Given the description of an element on the screen output the (x, y) to click on. 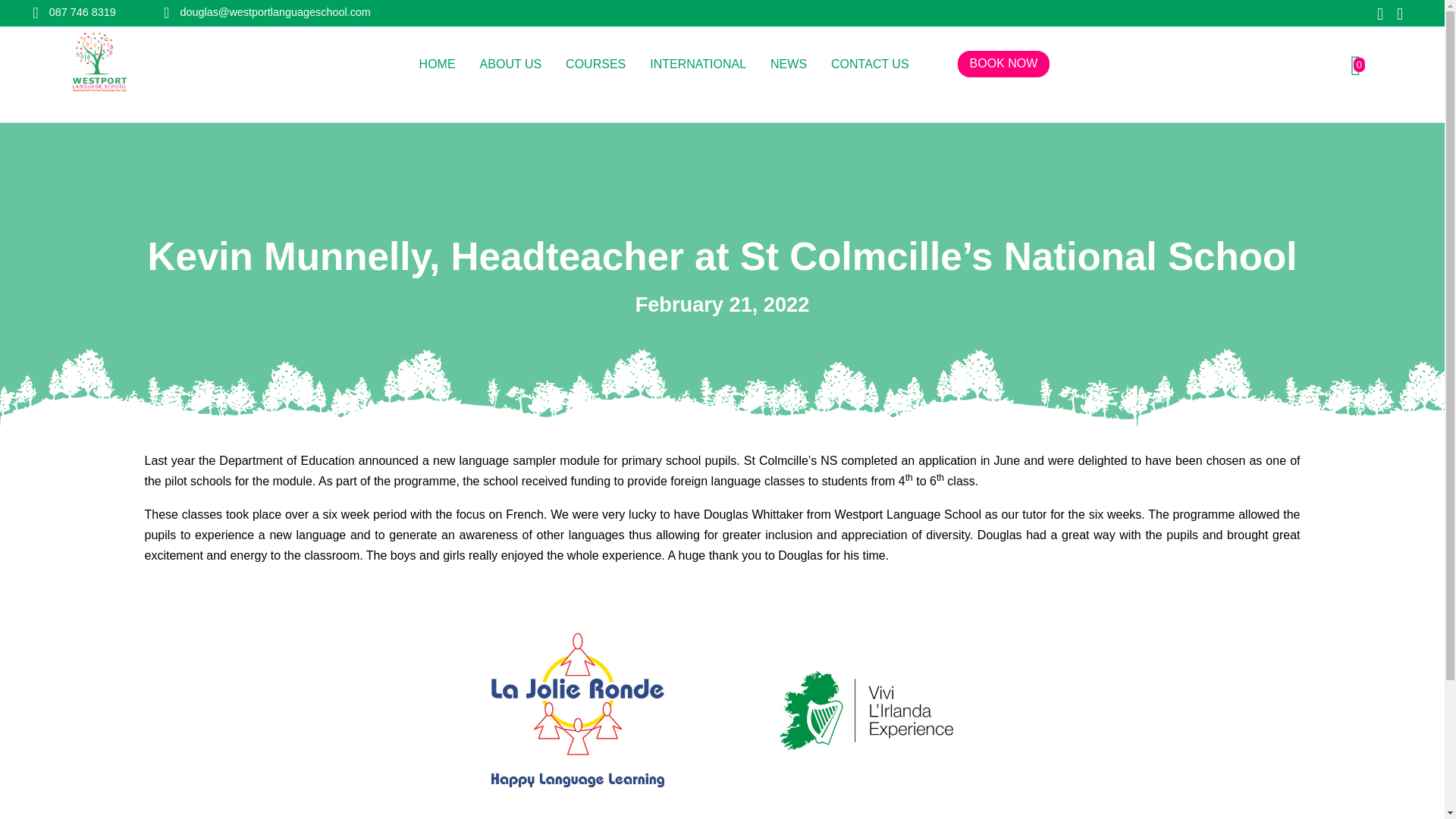
087 746 8319 (73, 11)
CONTACT US (869, 65)
INTERNATIONAL (697, 65)
COURSES (596, 65)
HOME (437, 65)
0 (1355, 65)
NEWS (788, 65)
ABOUT US (510, 65)
BOOK NOW (1003, 63)
